Given the description of an element on the screen output the (x, y) to click on. 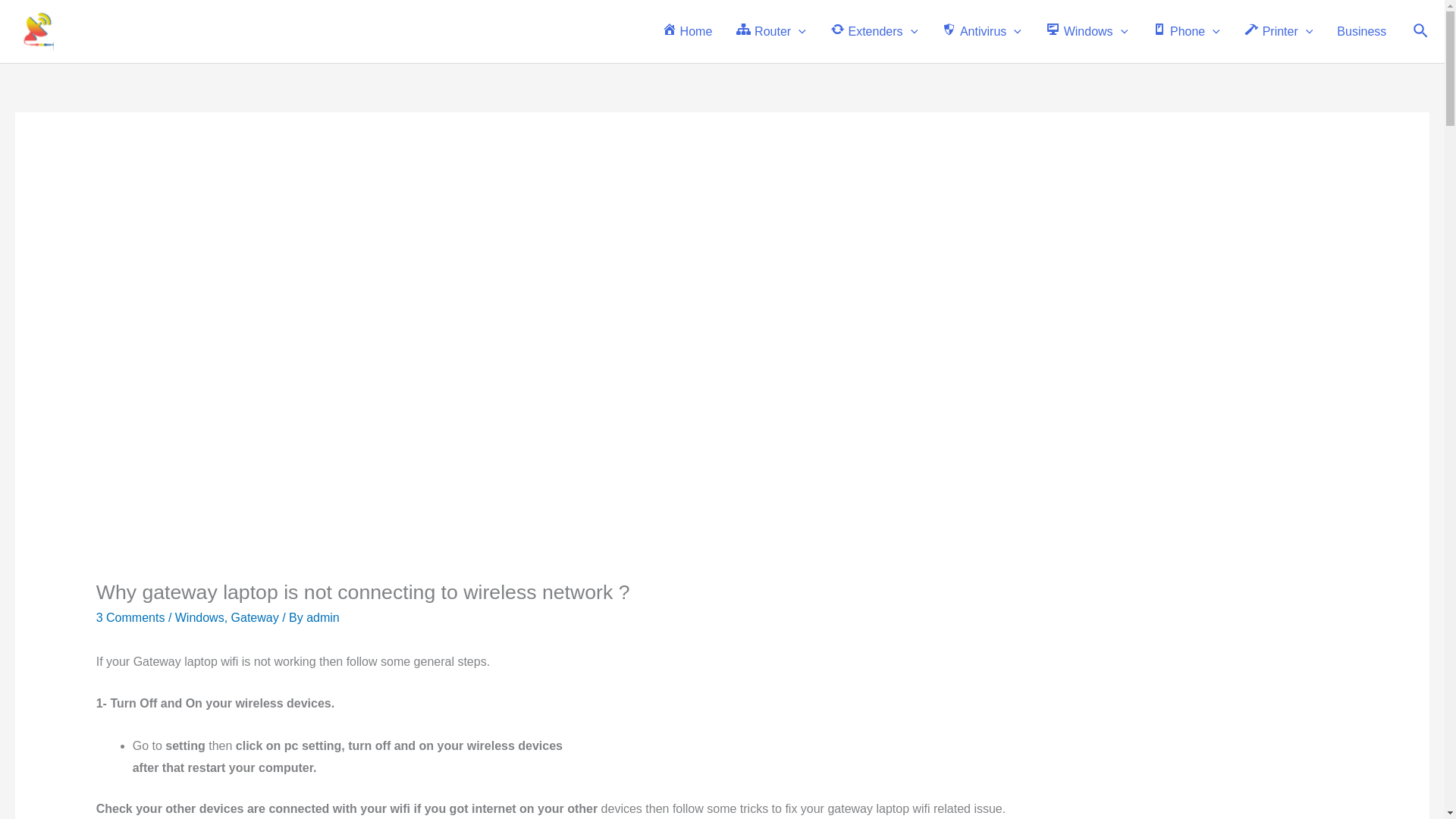
Windows (1086, 30)
View all posts by admin (322, 617)
Extenders (874, 30)
Router (769, 30)
Home (686, 30)
Antivirus (981, 30)
